Given the description of an element on the screen output the (x, y) to click on. 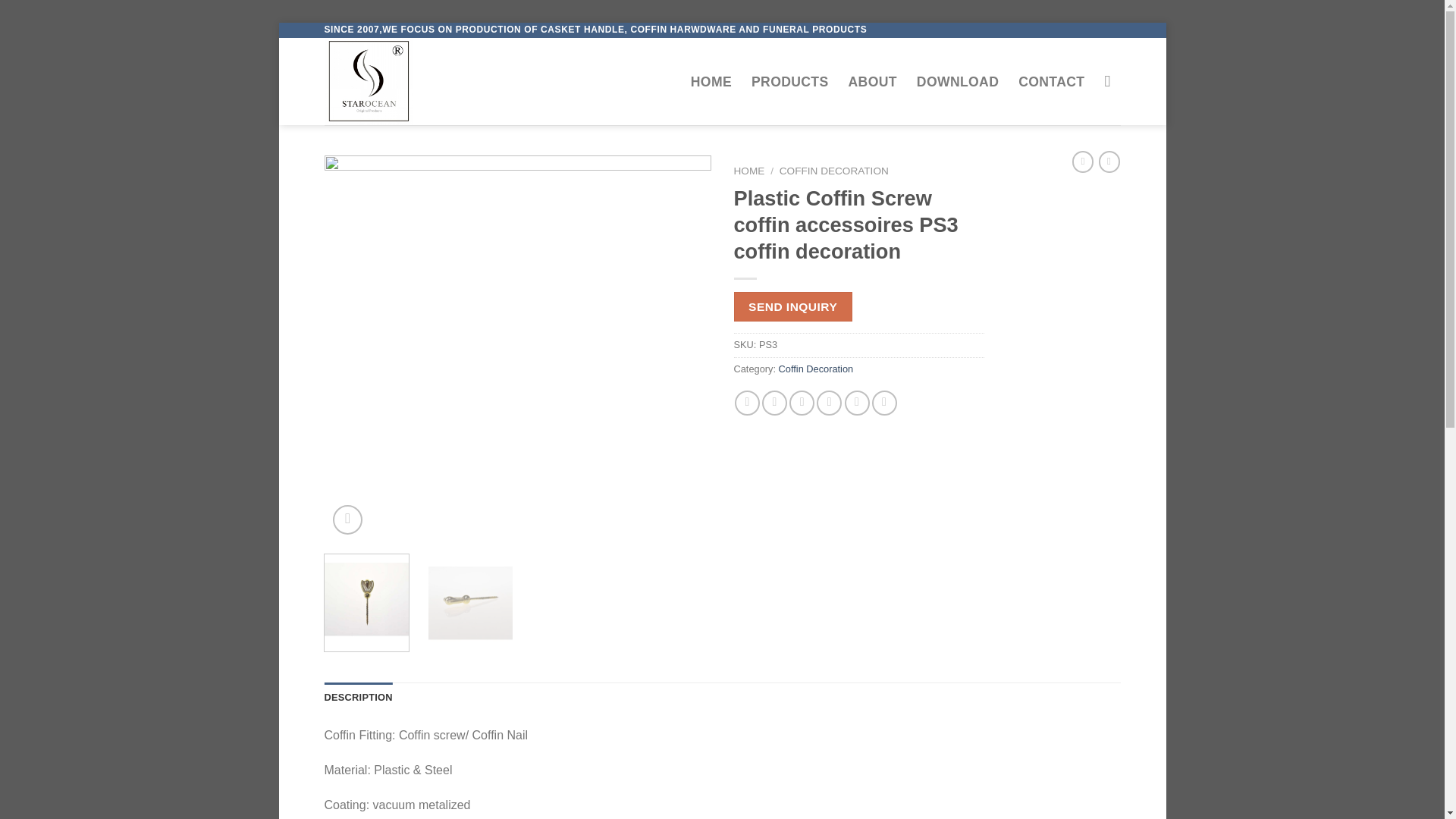
DESCRIPTION (358, 697)
HOME (711, 81)
Share on Facebook (747, 402)
Zoom (347, 519)
Pin on Pinterest (828, 402)
PRODUCTS (789, 81)
Coffin Decoration (815, 368)
My WordPress Website - Just another WordPress site (400, 81)
HOME (749, 170)
